Given the description of an element on the screen output the (x, y) to click on. 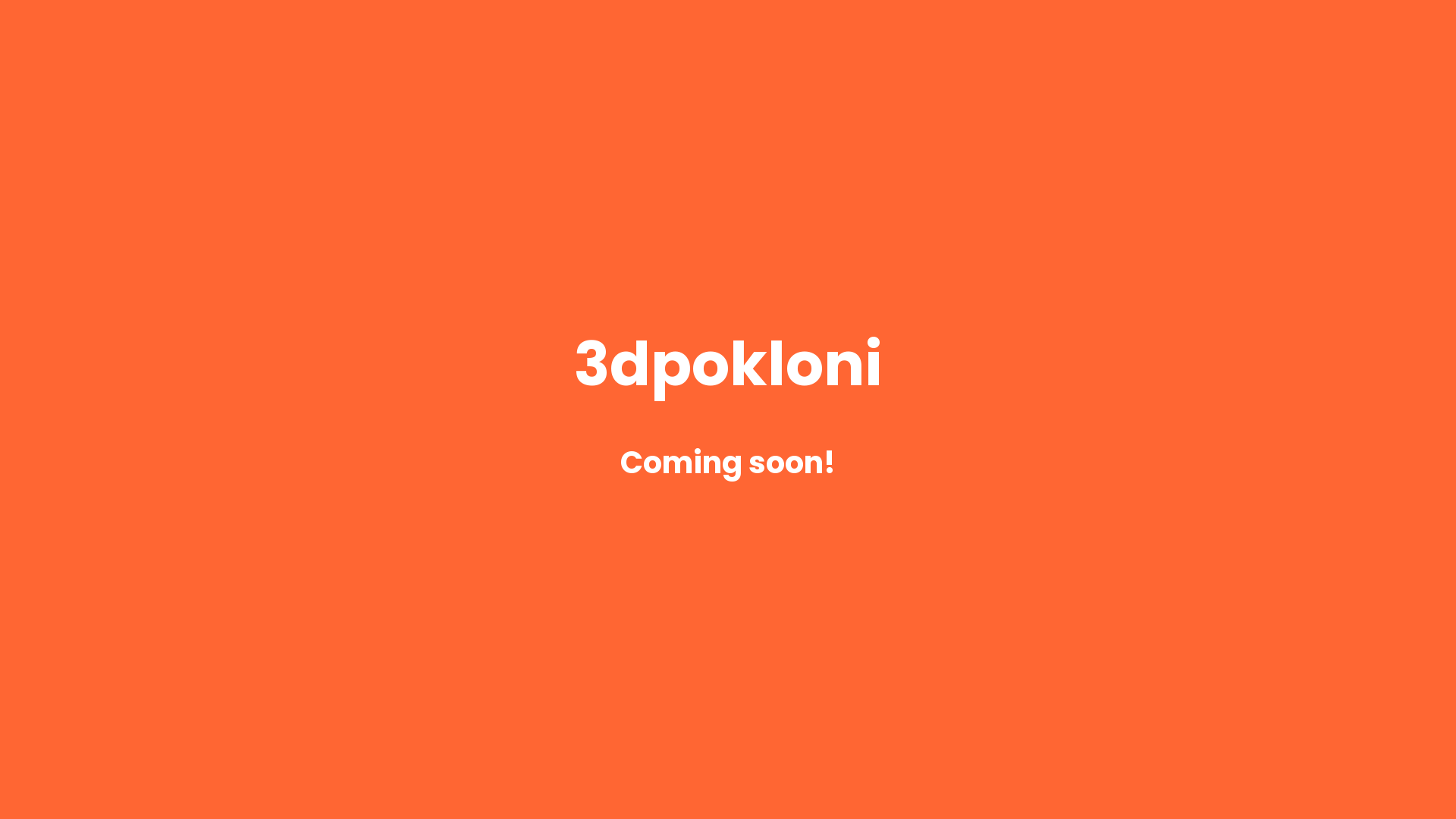
3dpokloni Element type: text (727, 374)
